Given the description of an element on the screen output the (x, y) to click on. 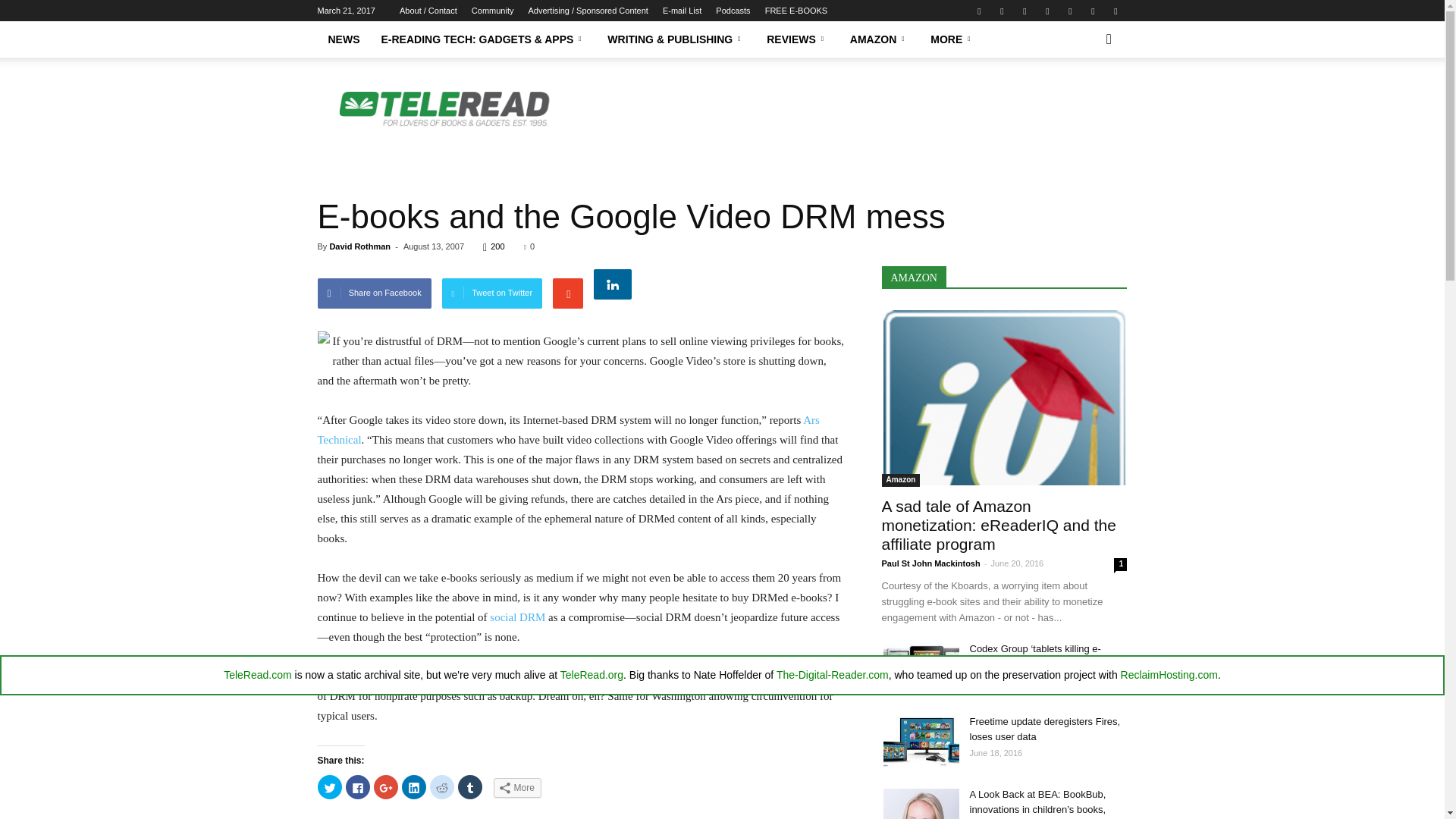
Facebook (979, 10)
RSS (1069, 10)
Community (492, 10)
Tumblr (1092, 10)
Twitter (1114, 10)
Linkedin (1024, 10)
NEWS (343, 39)
Podcasts (732, 10)
Pinterest (1046, 10)
FREE E-BOOKS (796, 10)
E-mail List (681, 10)
